Given the description of an element on the screen output the (x, y) to click on. 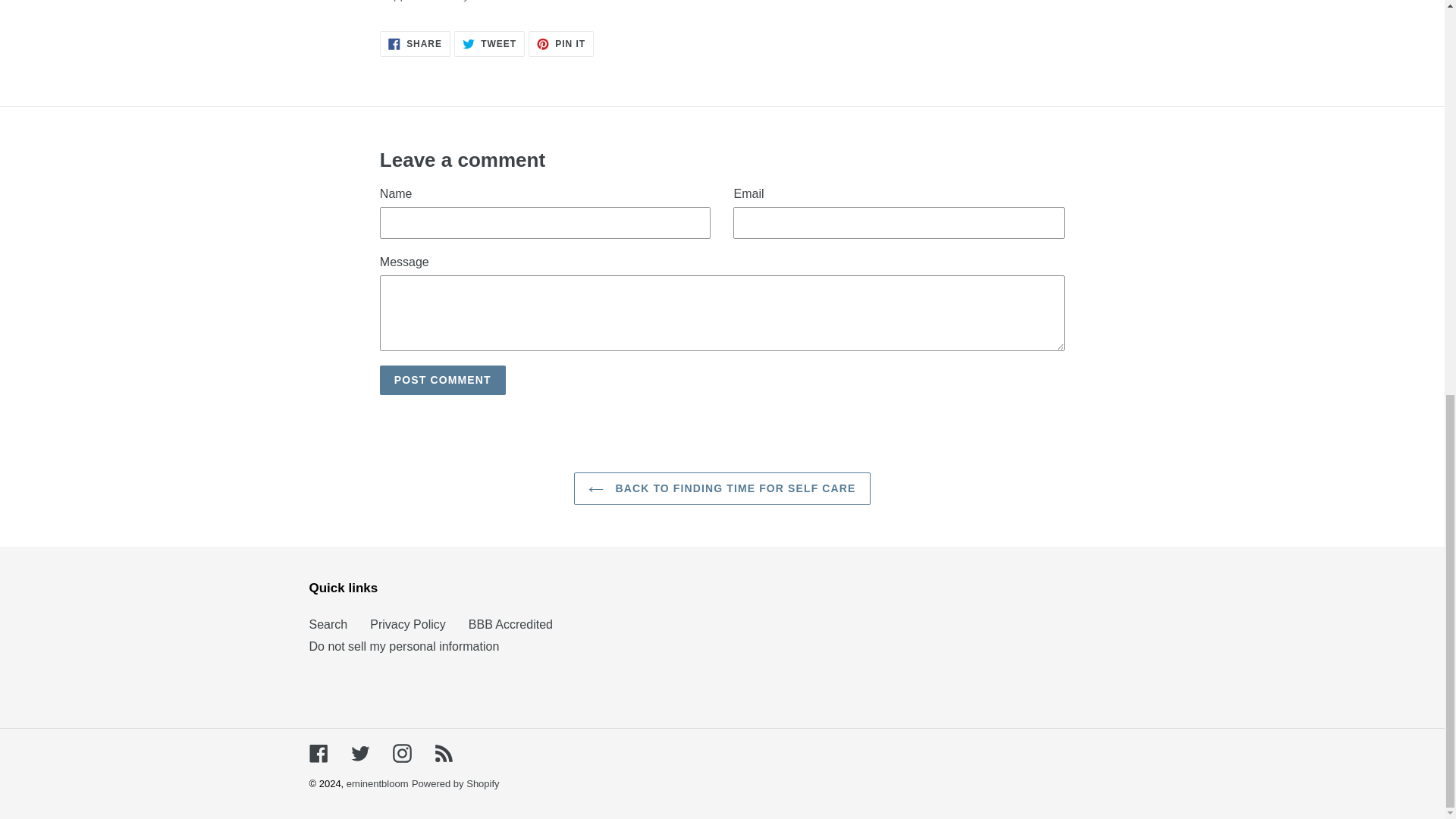
Powered by Shopify (455, 783)
Search (327, 624)
Facebook (318, 752)
BBB Accredited (510, 624)
Do not sell my personal information (489, 43)
Twitter (403, 645)
Post comment (359, 752)
RSS (442, 379)
Instagram (442, 752)
BACK TO FINDING TIME FOR SELF CARE (402, 752)
Privacy Policy (561, 43)
eminentbloom (721, 488)
